Given the description of an element on the screen output the (x, y) to click on. 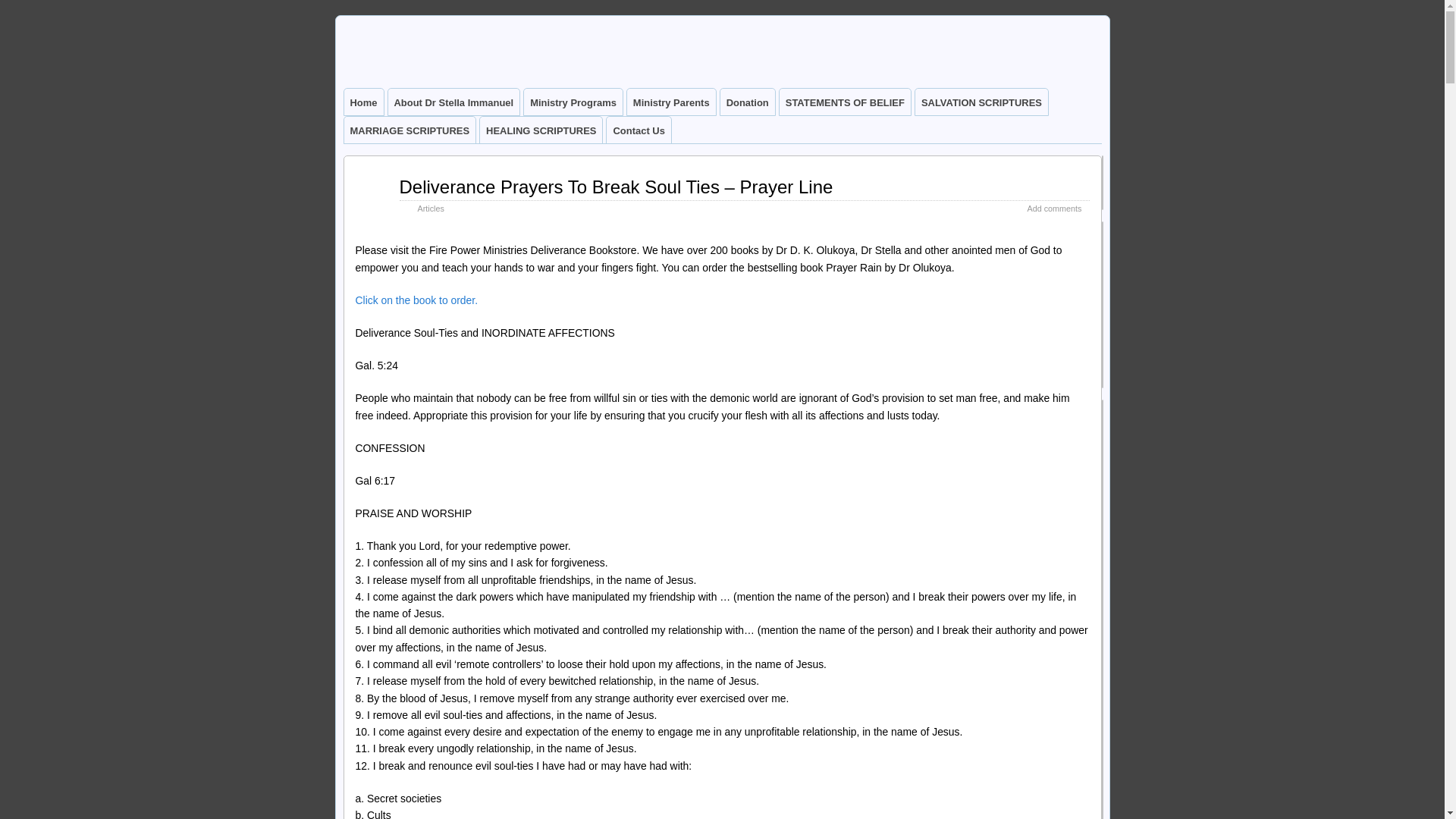
Add comments (1053, 207)
HEALING SCRIPTURES (541, 130)
MARRIAGE SCRIPTURES (409, 130)
Home (363, 101)
Ministry Programs (573, 101)
Click on the book to order. (416, 300)
About Dr Stella Immanuel (453, 101)
Articles (430, 207)
STATEMENTS OF BELIEF (844, 101)
Fire Power Ministry (394, 88)
SALVATION SCRIPTURES (981, 101)
Ministry Parents (671, 101)
Contact Us (638, 130)
Donation (747, 101)
